Given the description of an element on the screen output the (x, y) to click on. 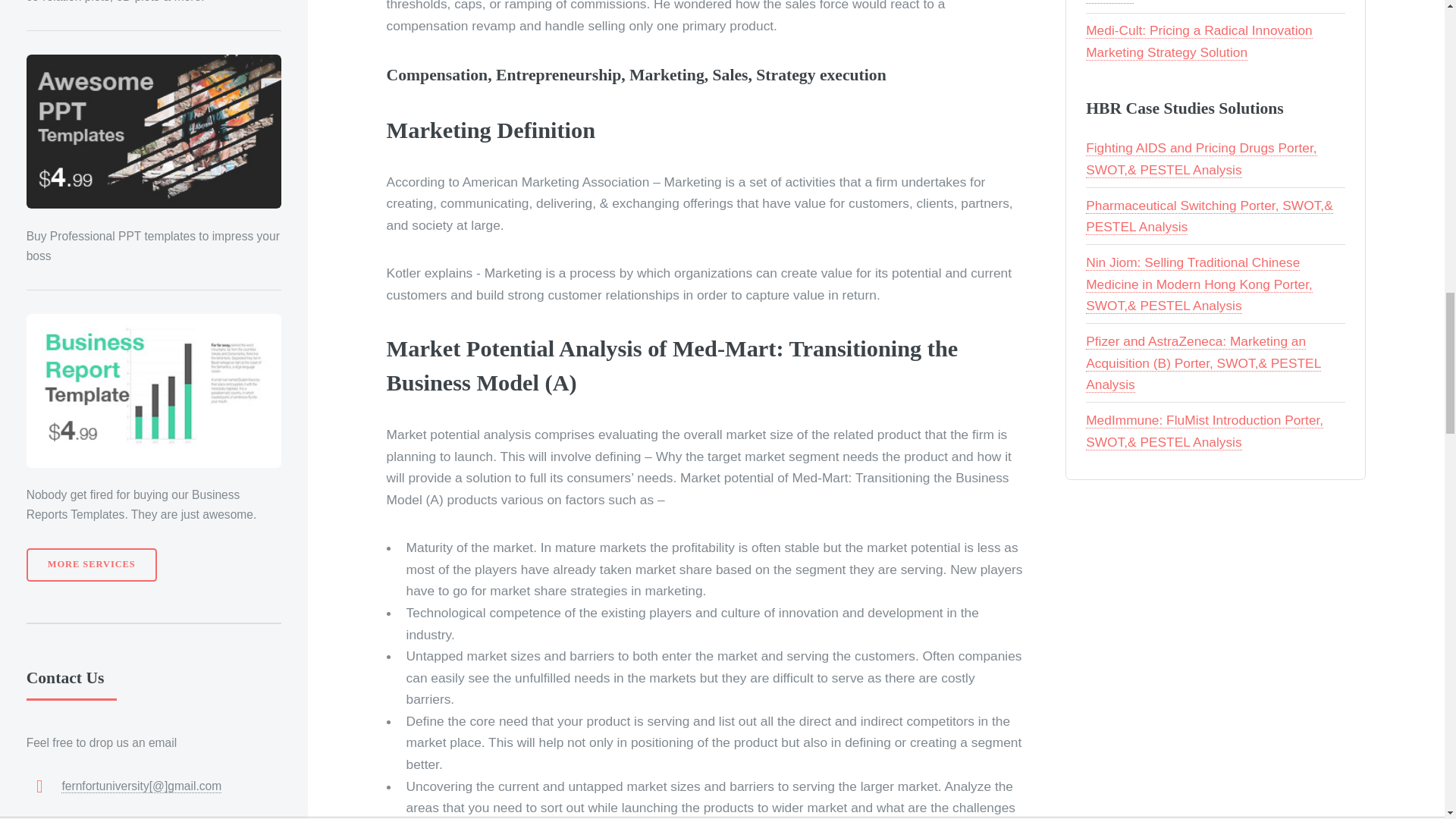
Dendrite International Marketing Strategy Solution (1205, 2)
